Given the description of an element on the screen output the (x, y) to click on. 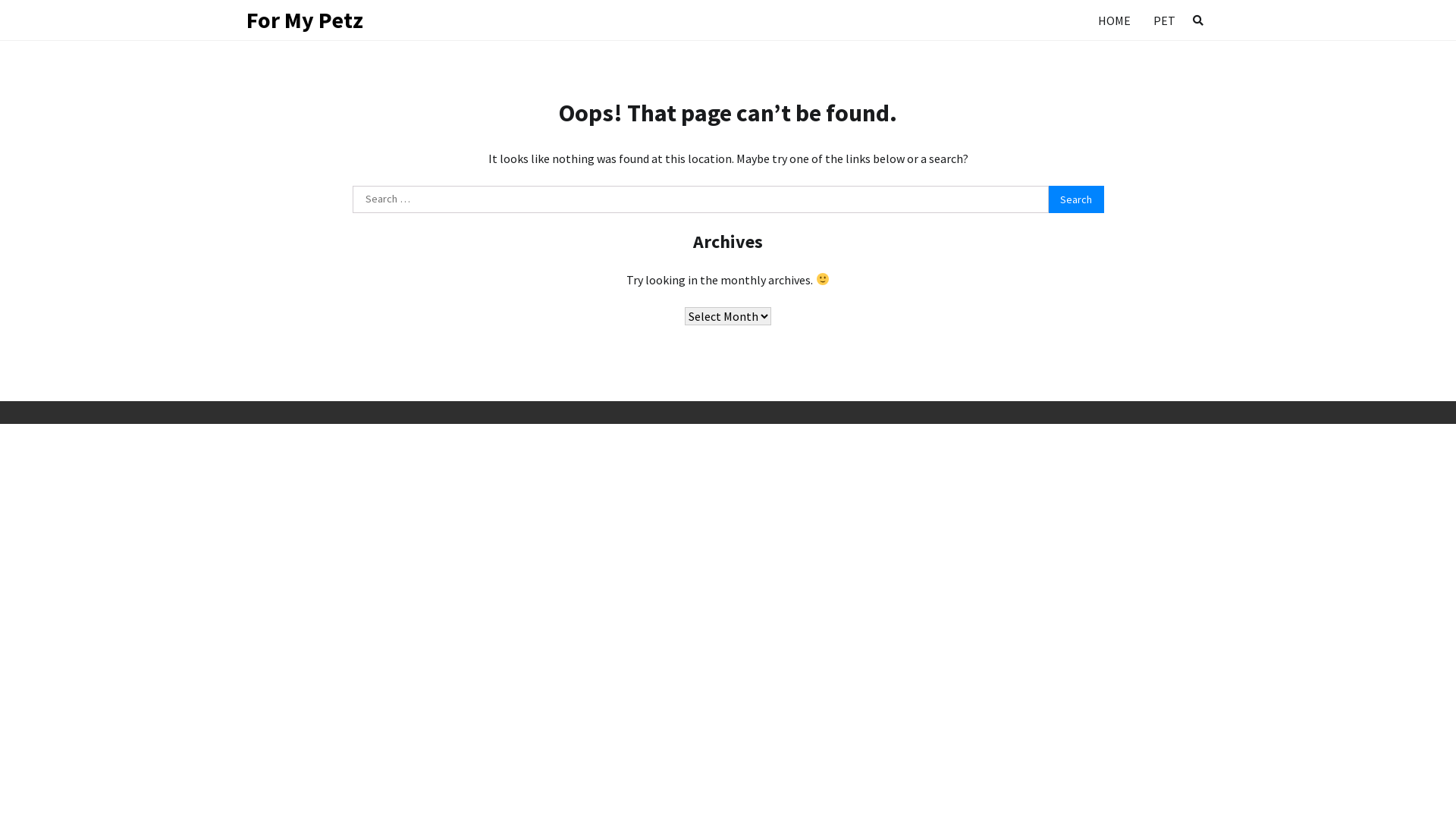
For My Petz Element type: text (304, 19)
HOME Element type: text (1114, 20)
PET Element type: text (1164, 20)
Search Element type: hover (1197, 20)
Search Element type: text (1075, 199)
Search Element type: text (1170, 55)
